Given the description of an element on the screen output the (x, y) to click on. 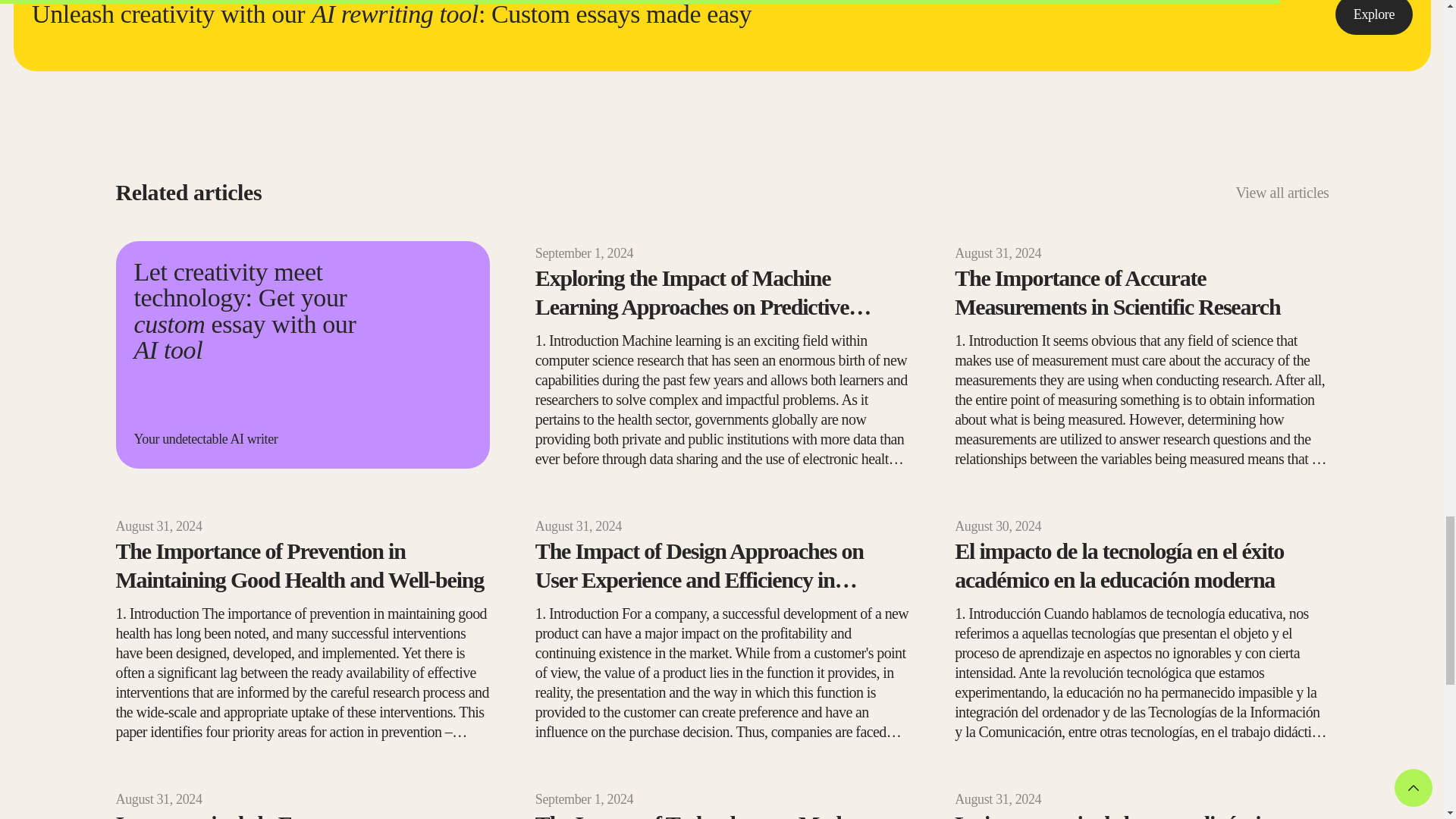
The Impact of Technology on Modern Society (721, 814)
View all articles (1280, 191)
